Given the description of an element on the screen output the (x, y) to click on. 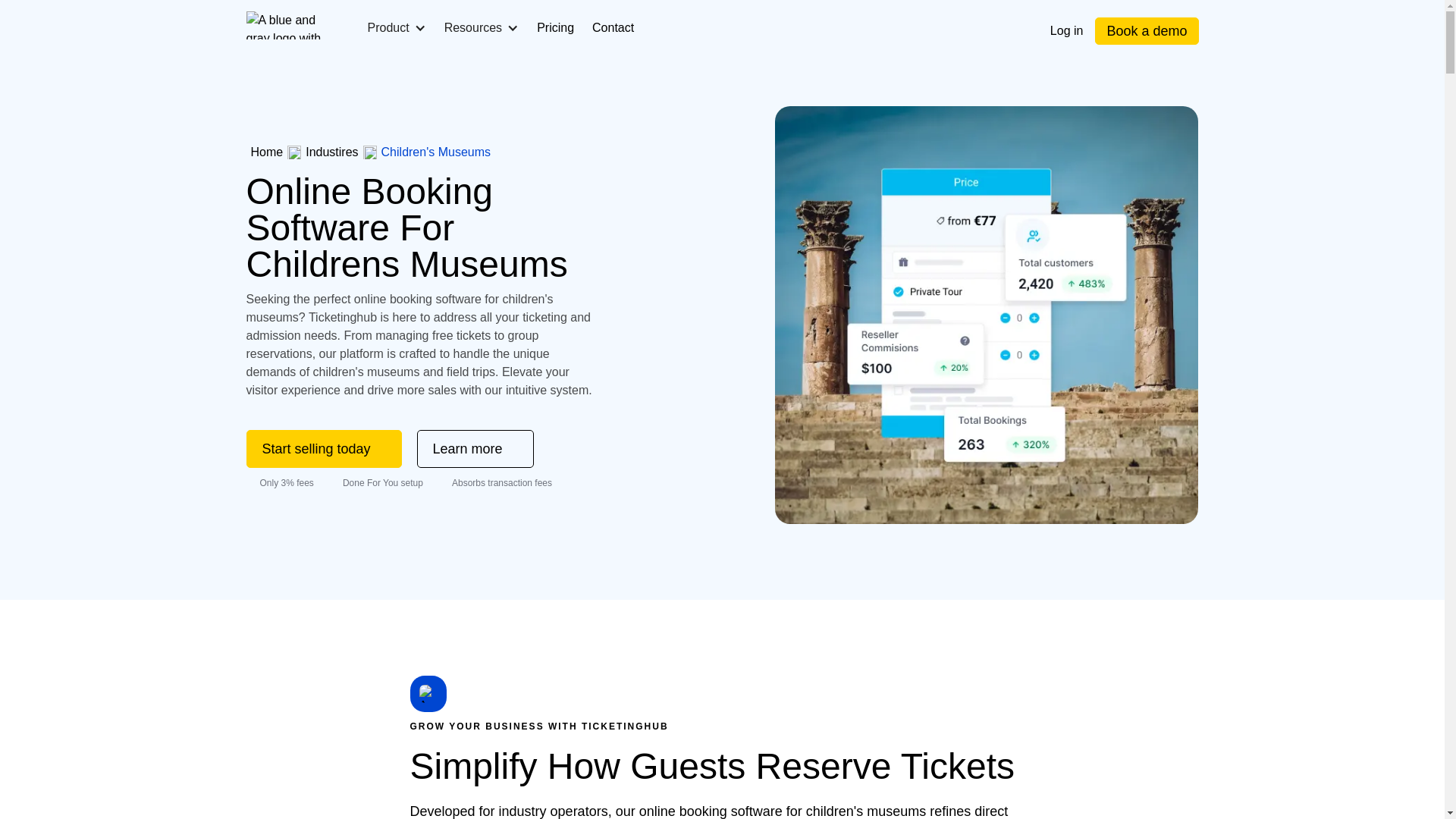
Book a demo (1146, 31)
Log in (1066, 31)
Pricing (555, 26)
Contact (613, 26)
